Given the description of an element on the screen output the (x, y) to click on. 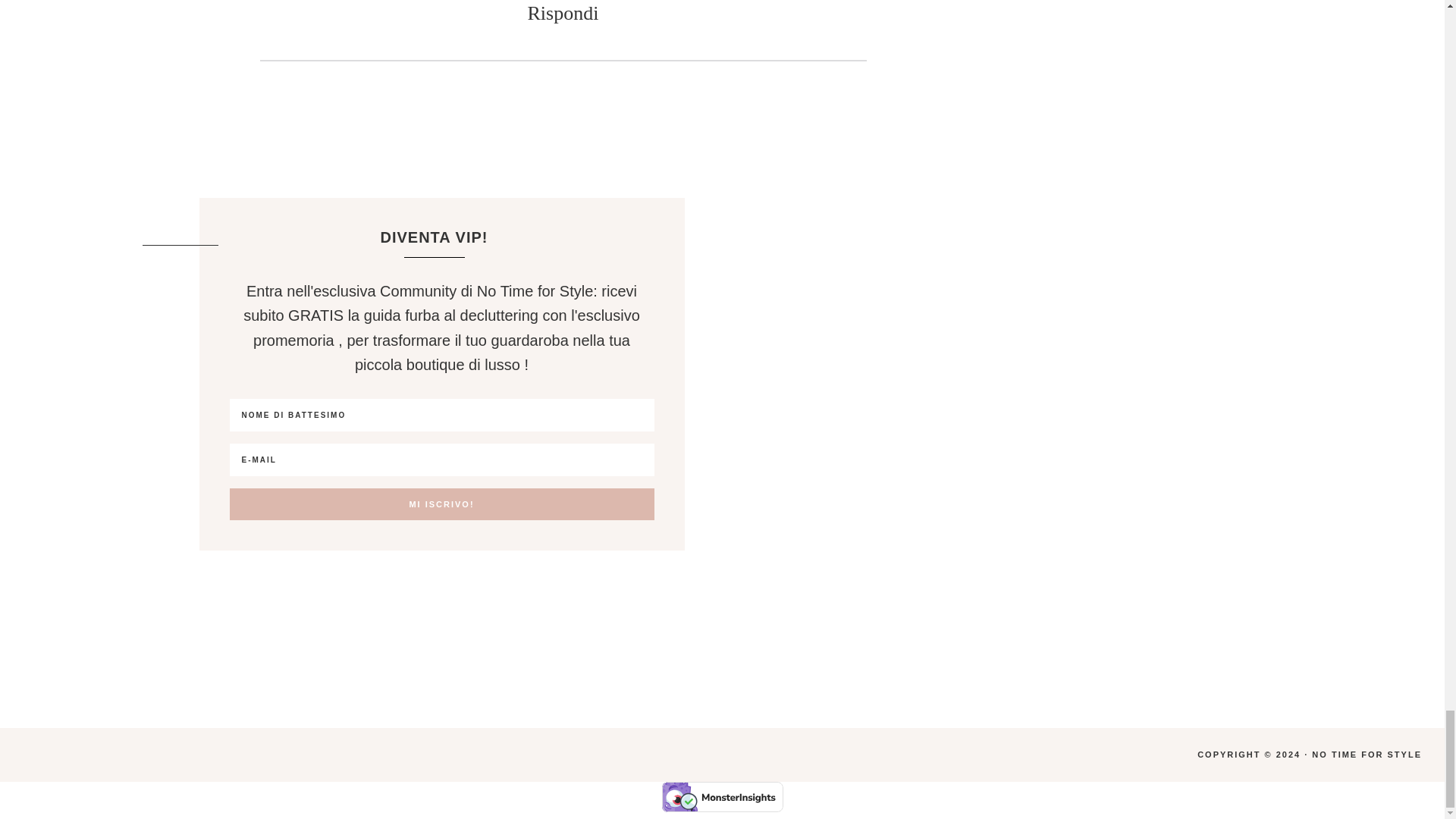
Mi iscrivo! (440, 504)
Verified by MonsterInsights (722, 797)
